Given the description of an element on the screen output the (x, y) to click on. 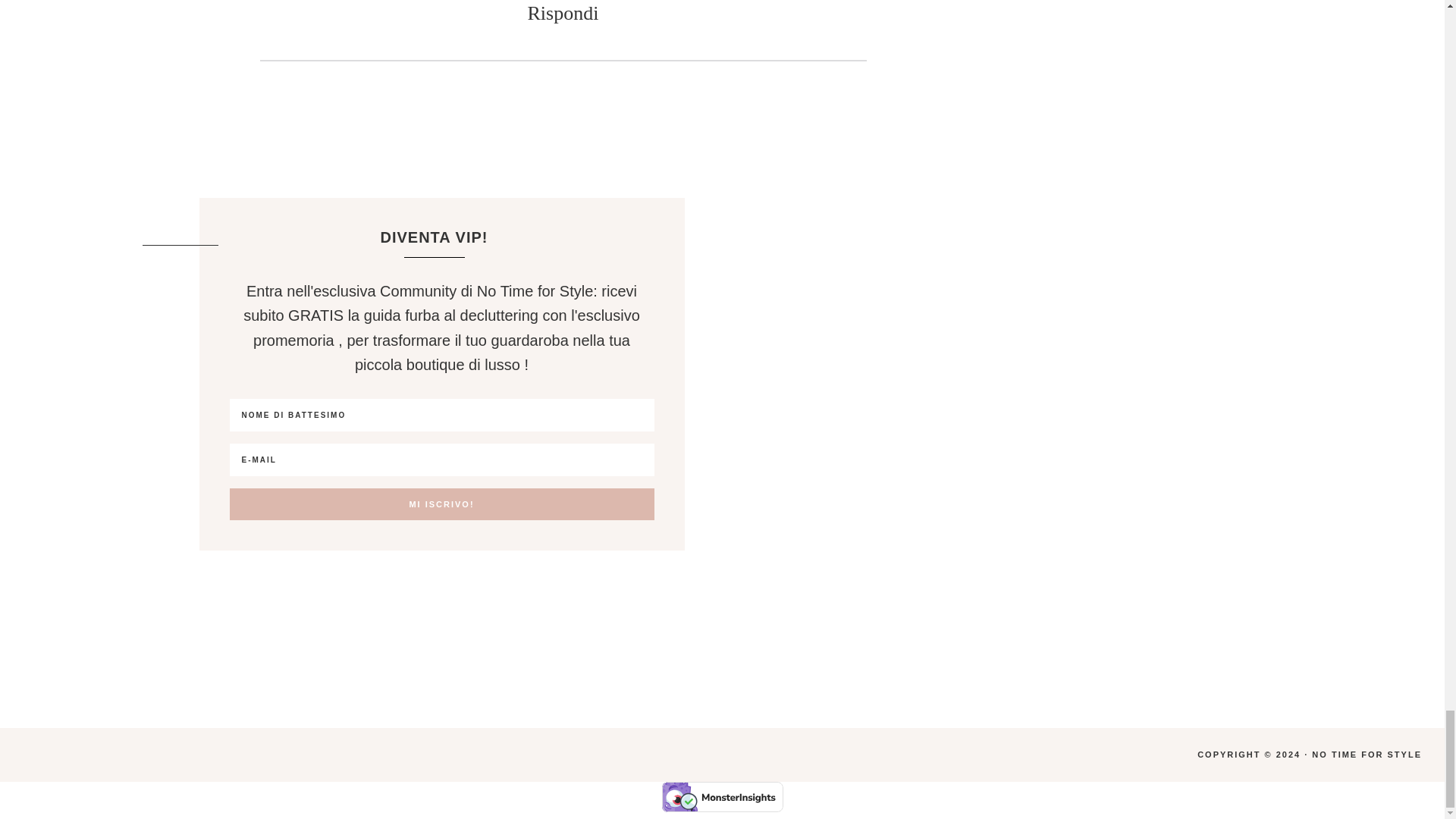
Mi iscrivo! (440, 504)
Verified by MonsterInsights (722, 797)
